Given the description of an element on the screen output the (x, y) to click on. 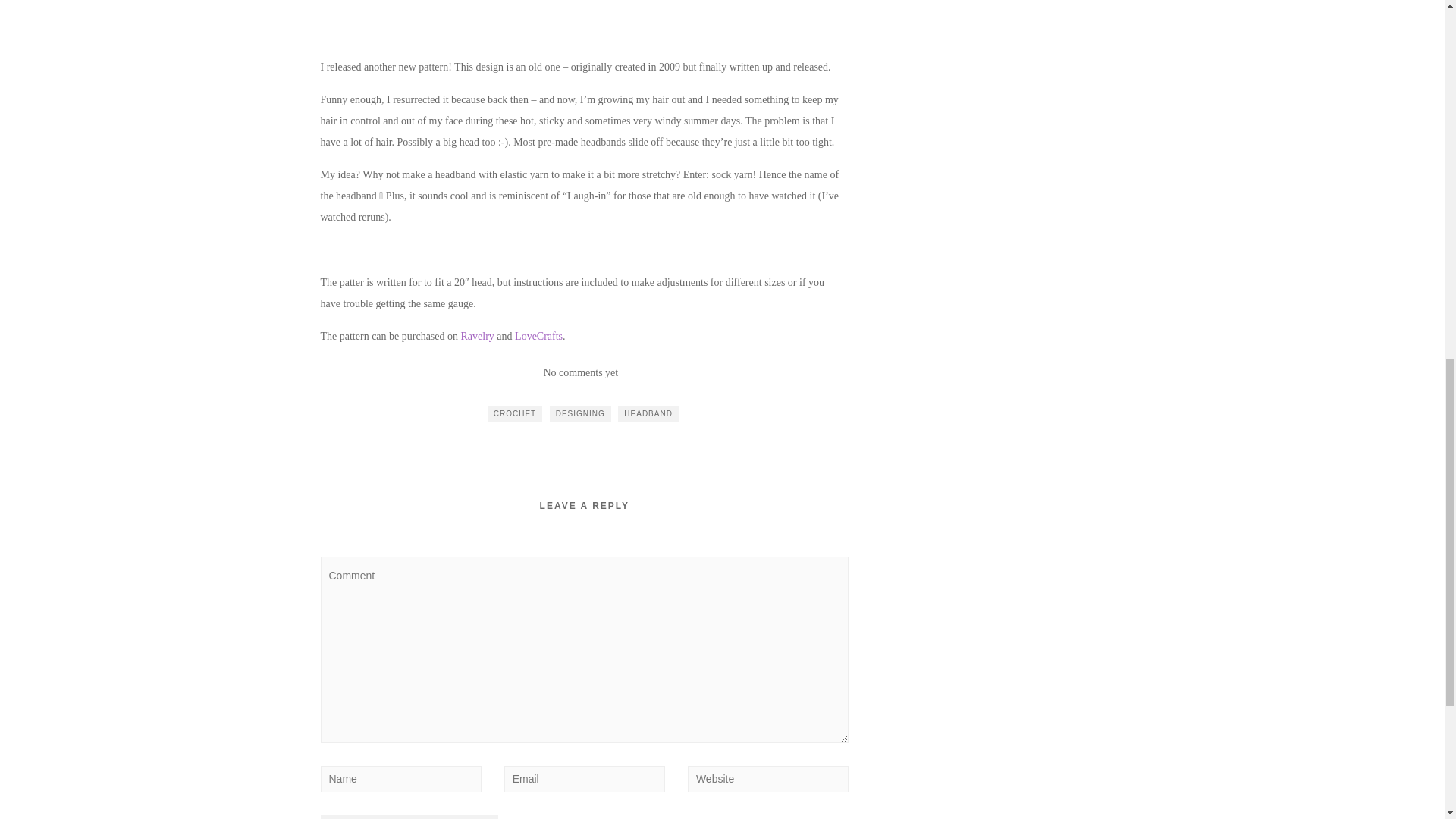
HEADBAND (647, 413)
Pattern release: Sock-it-to-me Headband (580, 4)
LoveCrafts (538, 336)
Ravelry (478, 336)
CROCHET (514, 413)
Post Reply (408, 816)
Post Reply (408, 816)
DESIGNING (580, 413)
No comments yet (580, 372)
